Given the description of an element on the screen output the (x, y) to click on. 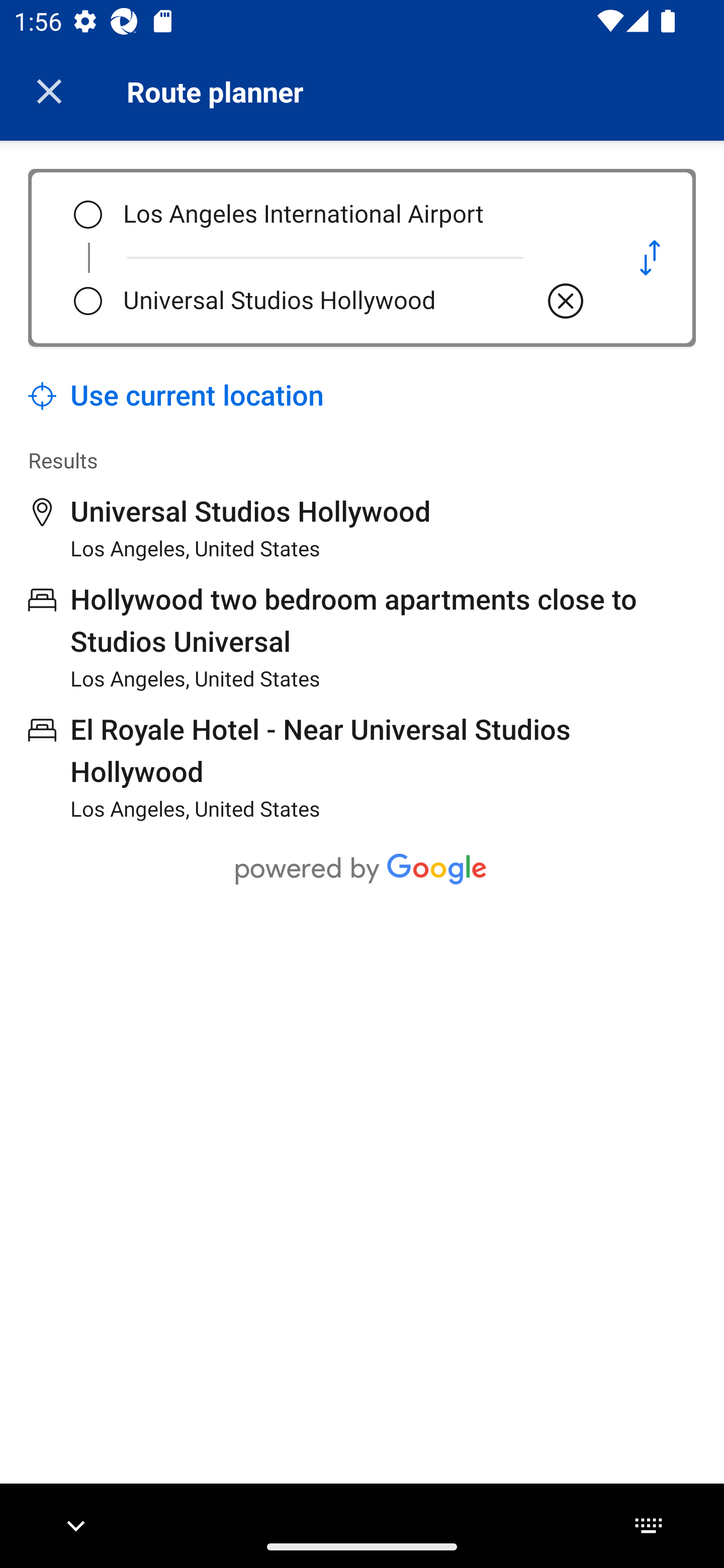
Close (49, 91)
Los Angeles International Airport (355, 214)
Swap pick-up location and destination (650, 257)
Universal Studios Hollywood Clear (355, 300)
Clear (565, 300)
Use current location (176, 395)
